Given the description of an element on the screen output the (x, y) to click on. 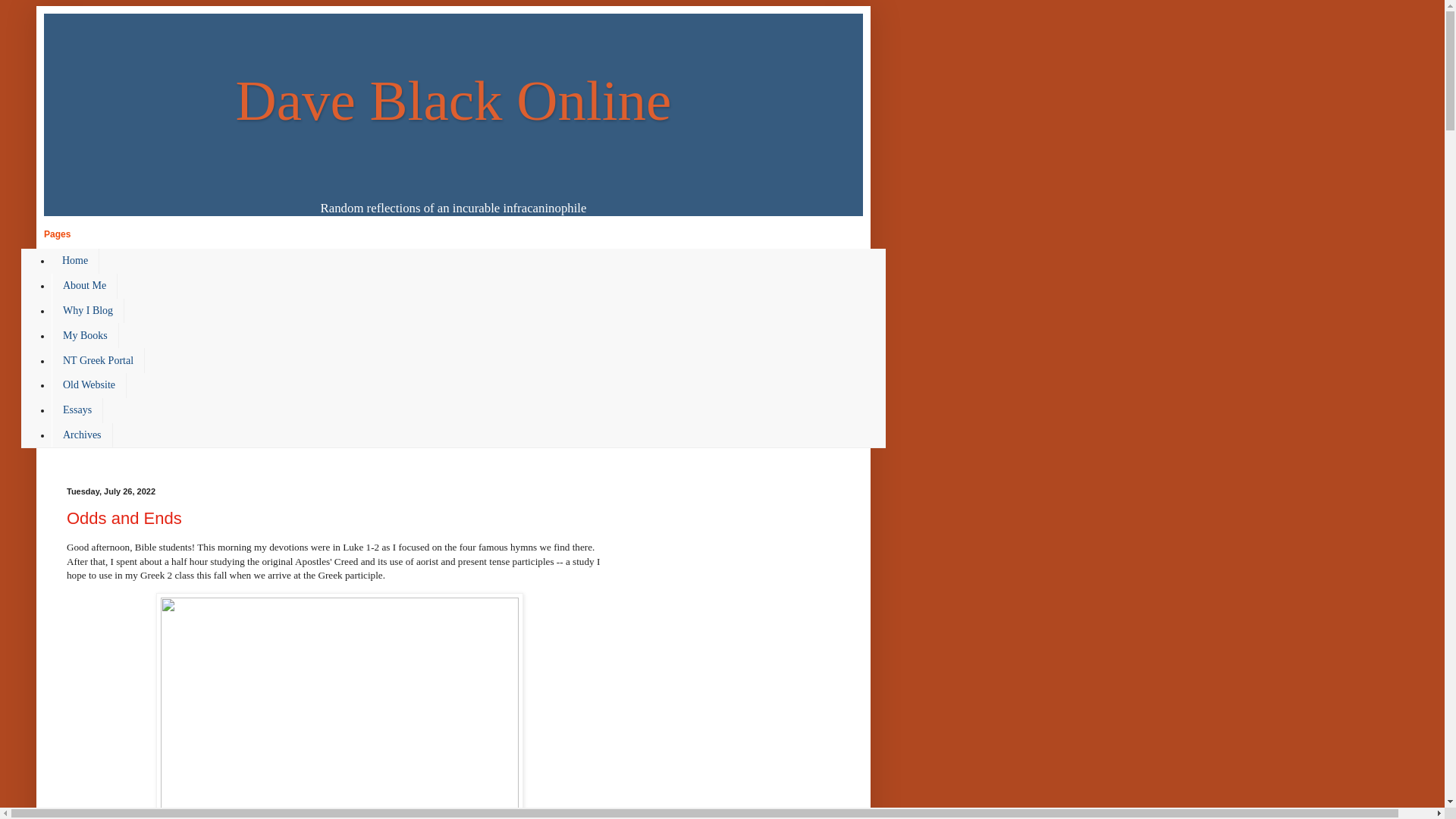
NT Greek Portal (97, 360)
Archives (81, 435)
Essays (76, 410)
Why I Blog (86, 310)
Home (74, 260)
My Books (84, 335)
Dave Black Online (453, 99)
About Me (83, 285)
Old Website (88, 385)
